Given the description of an element on the screen output the (x, y) to click on. 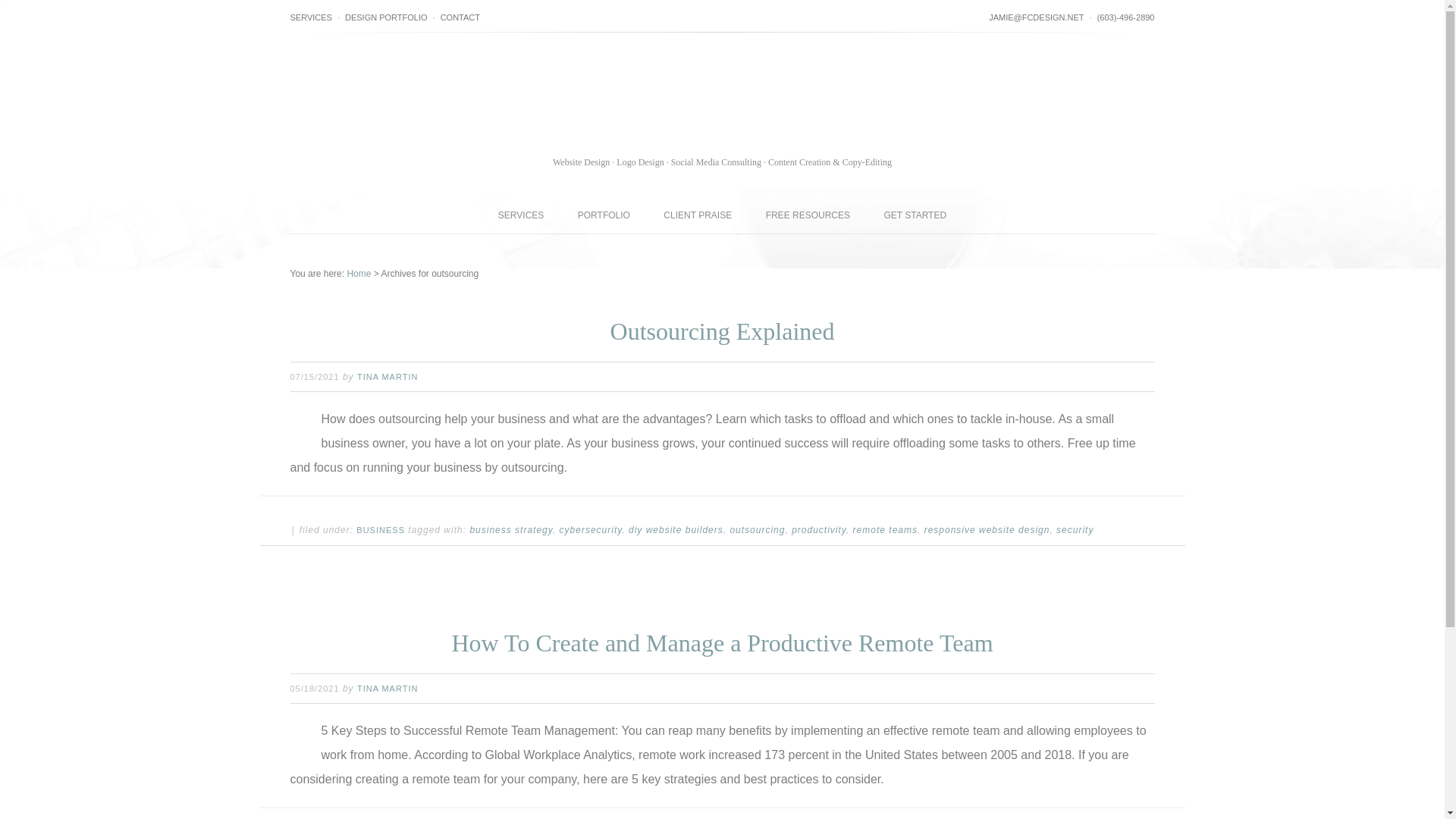
remote teams (885, 529)
SERVICES (521, 215)
SERVICES (310, 17)
CONTACT (460, 17)
business strategy (510, 529)
PORTFOLIO (603, 215)
Outsourcing Explained (722, 331)
FREE RESOURCES (807, 215)
GET STARTED (913, 215)
productivity (818, 529)
cybersecurity (591, 529)
security (1075, 529)
Home (358, 273)
outsourcing (756, 529)
Fat Cat Design (722, 101)
